Given the description of an element on the screen output the (x, y) to click on. 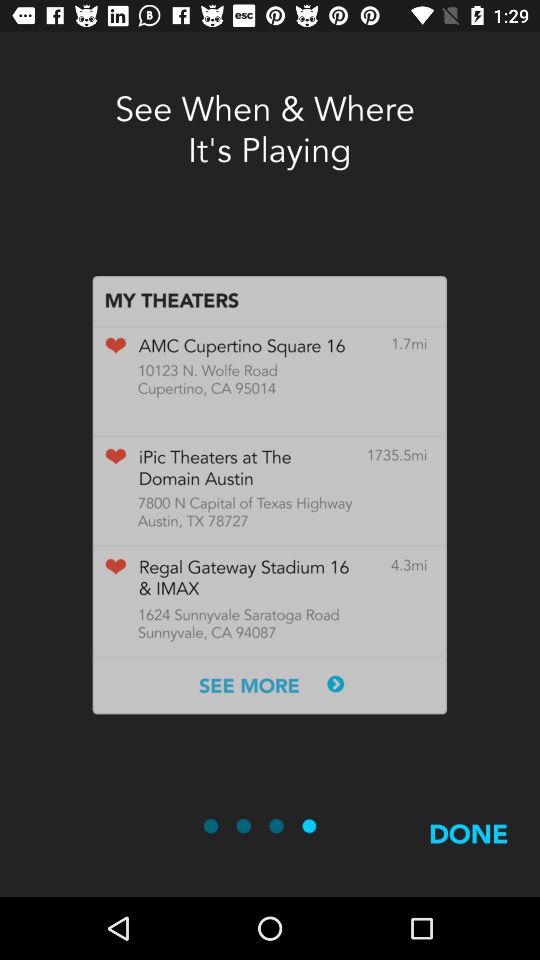
choose item at the bottom right corner (468, 857)
